Given the description of an element on the screen output the (x, y) to click on. 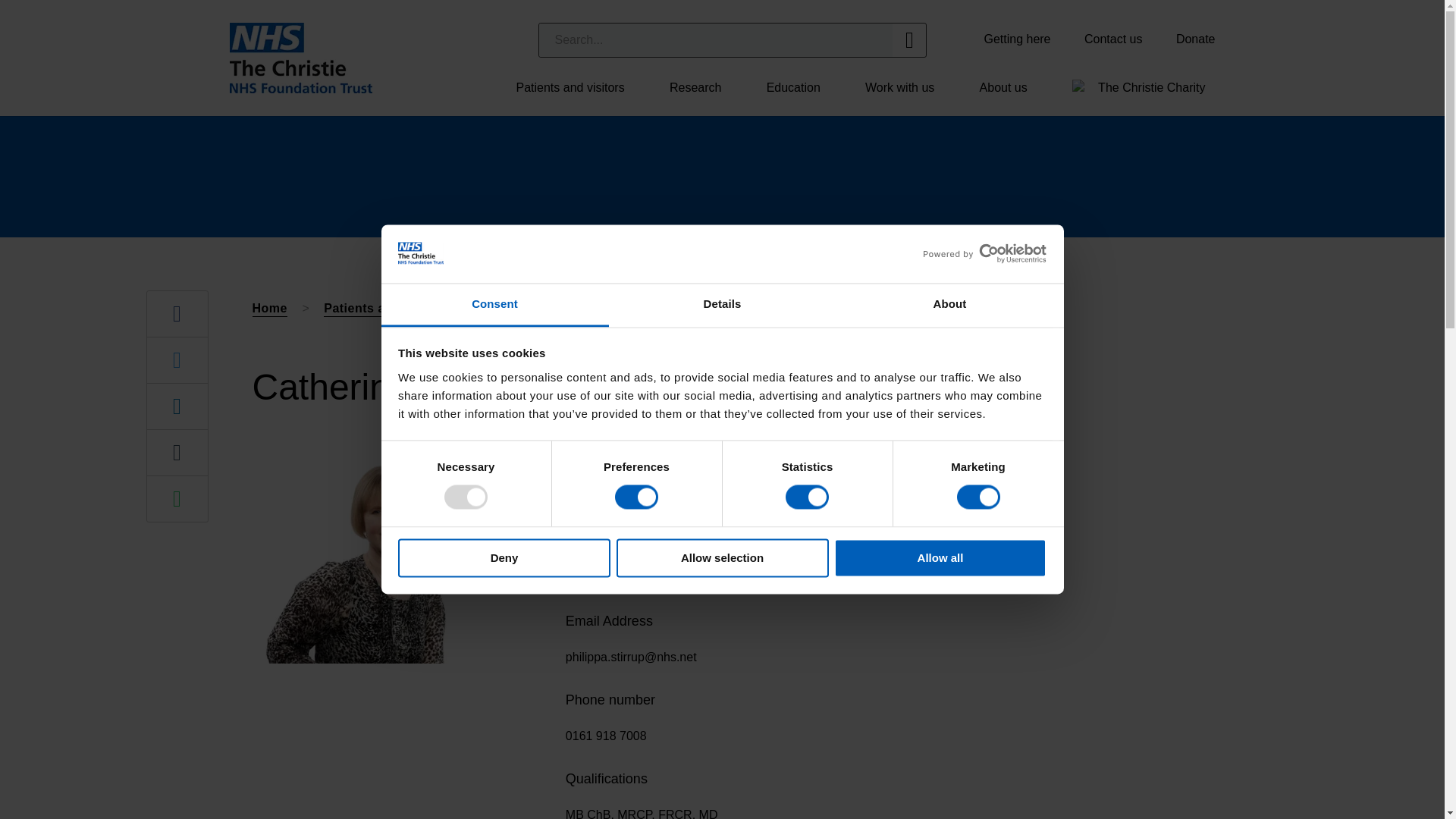
Consent (494, 304)
Deny (503, 557)
Search (715, 39)
Allow selection (721, 557)
About (948, 304)
Details (721, 304)
